Given the description of an element on the screen output the (x, y) to click on. 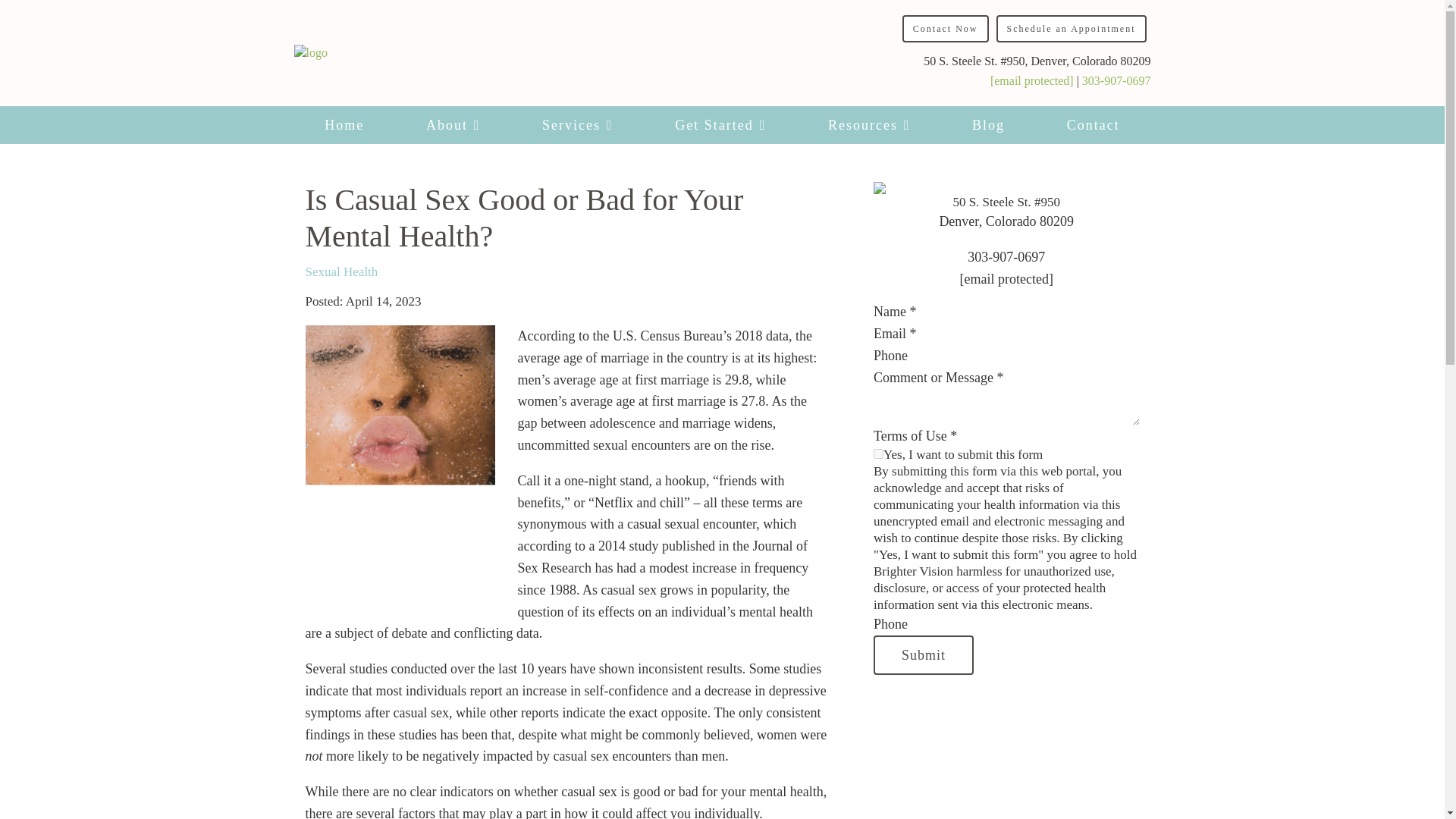
Schedule an Appointment (1071, 28)
Contact (1093, 125)
303-907-0697 (1116, 80)
Services (577, 125)
Home (344, 125)
Blog (987, 125)
About (452, 125)
Get Started (719, 125)
Yes, I want to submit this form (878, 453)
Resources (868, 125)
